Given the description of an element on the screen output the (x, y) to click on. 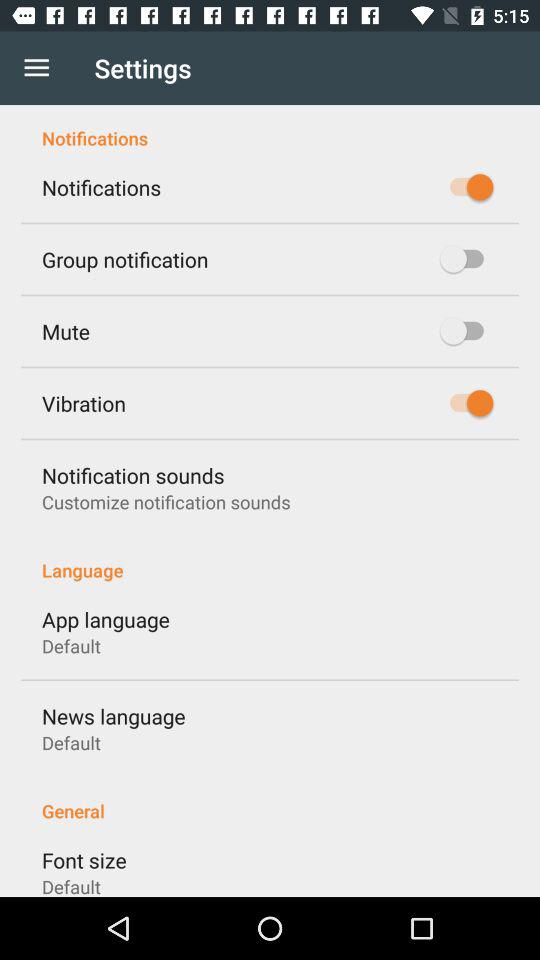
jump to font size icon (84, 860)
